Given the description of an element on the screen output the (x, y) to click on. 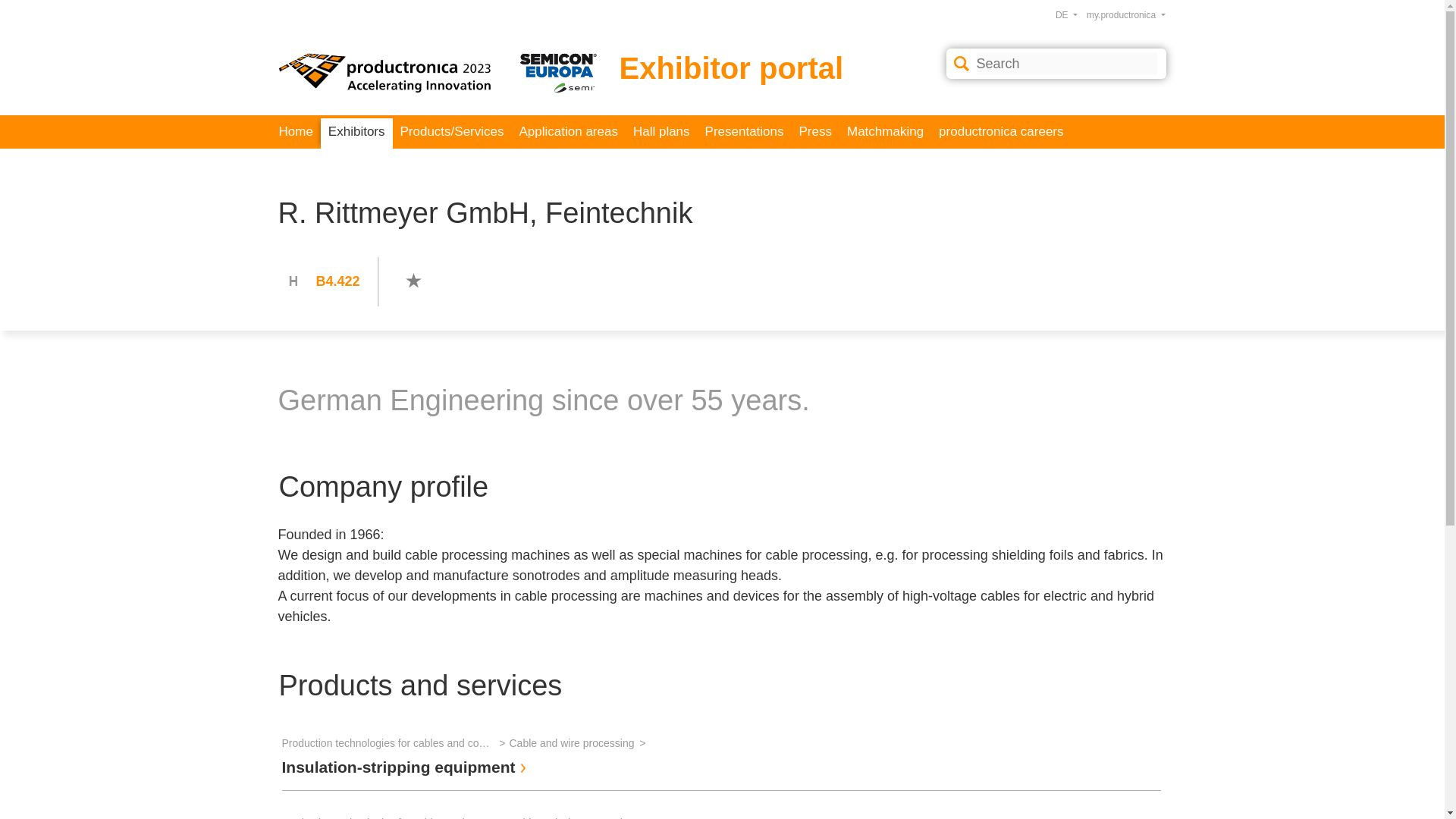
Presentations (744, 131)
Enter your search term here (1066, 63)
Matchmaking (885, 131)
Home (295, 131)
Cable and wire processing (579, 816)
Production technologies for cables and connectors (395, 742)
Cable and wire processing (579, 742)
productronica careers (1000, 131)
Home (295, 131)
my.productronica (1126, 14)
Matchmaking (885, 131)
Exhibitors (356, 132)
DE (1066, 14)
Presentations (744, 131)
productronica careers (1000, 131)
